Given the description of an element on the screen output the (x, y) to click on. 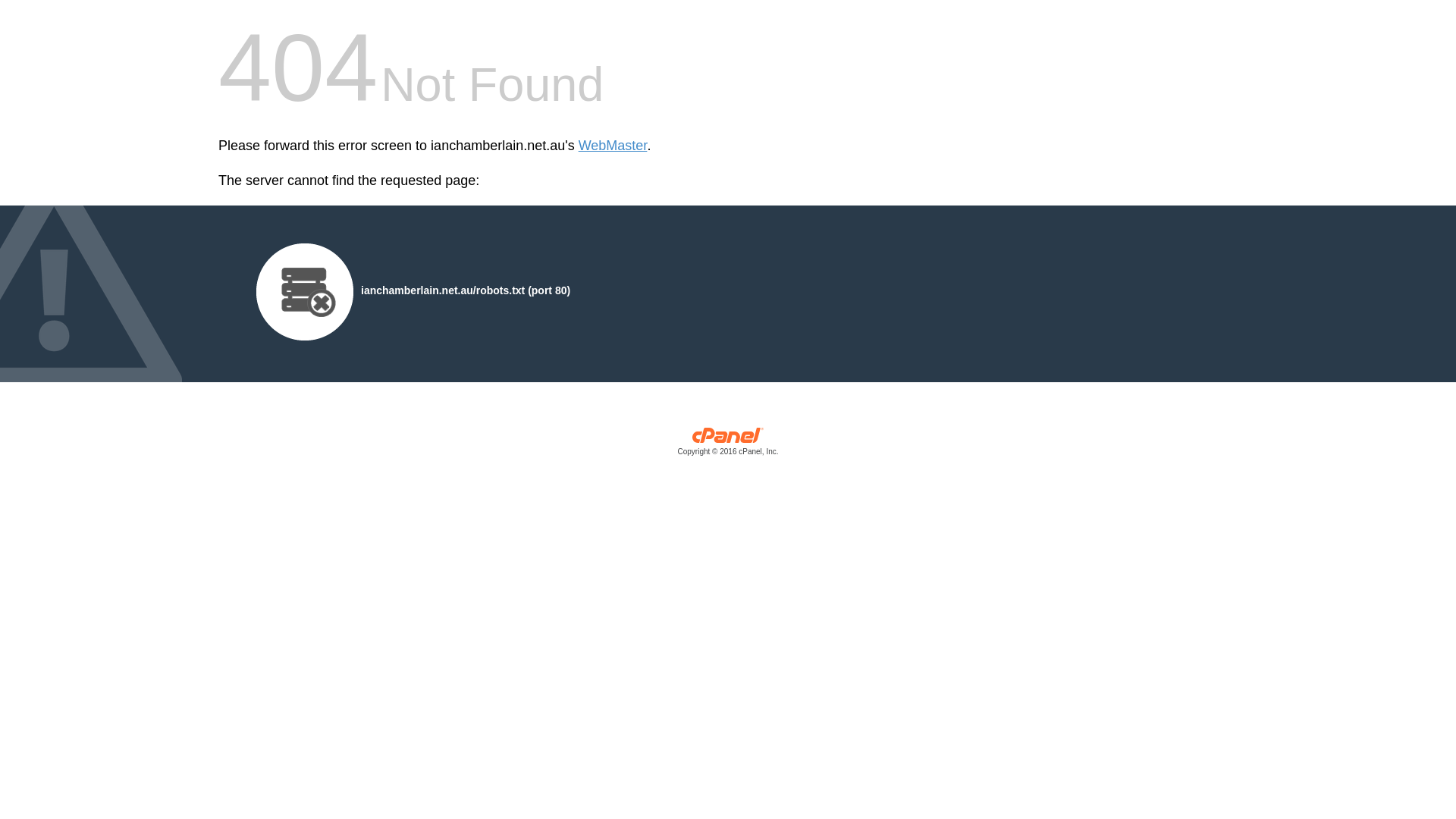
WebMaster Element type: text (612, 145)
